Given the description of an element on the screen output the (x, y) to click on. 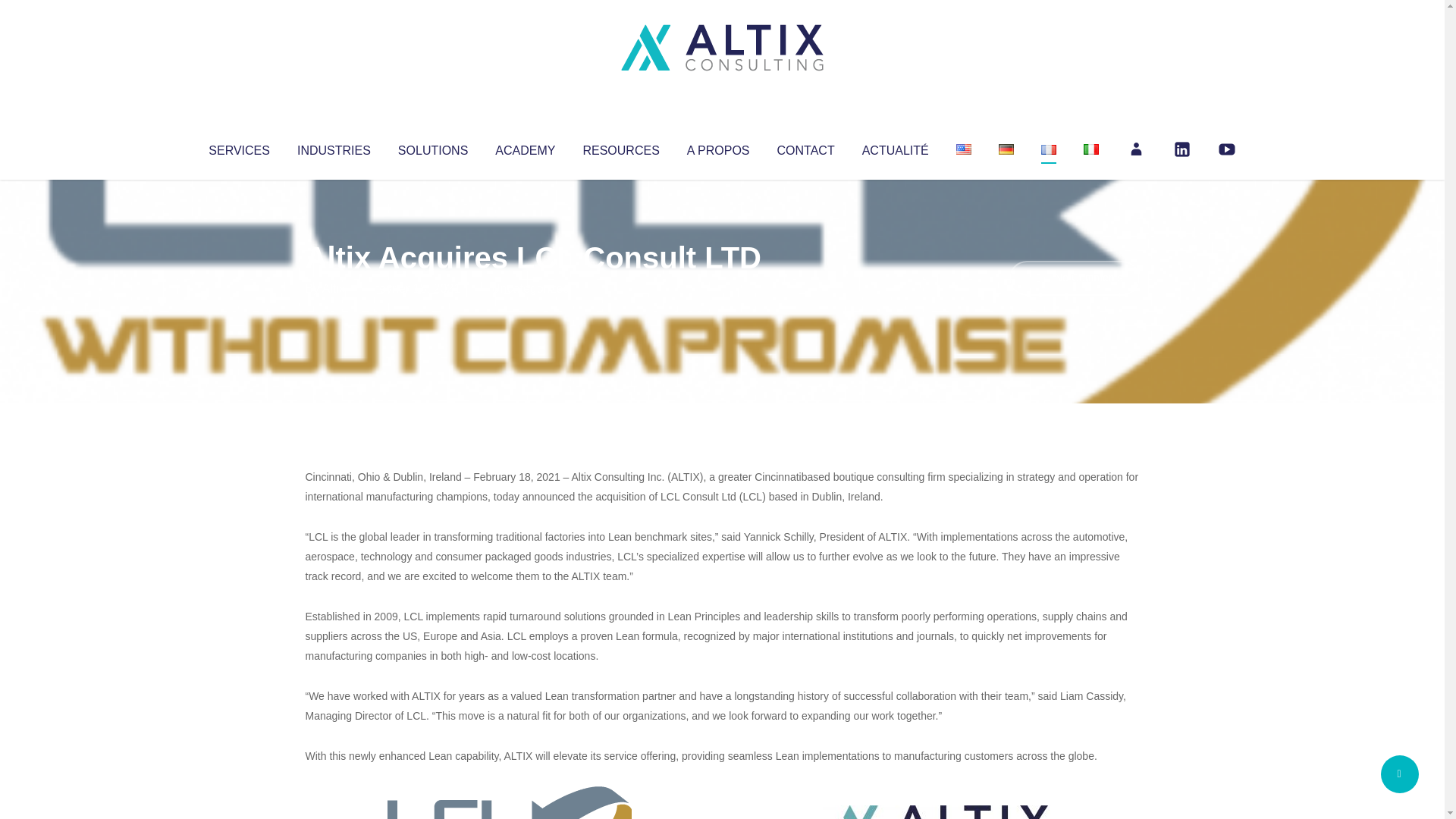
Articles par Altix (333, 287)
Altix (333, 287)
SOLUTIONS (432, 146)
No Comments (1073, 278)
A PROPOS (718, 146)
RESOURCES (620, 146)
SERVICES (238, 146)
ACADEMY (524, 146)
Uncategorized (530, 287)
INDUSTRIES (334, 146)
